Given the description of an element on the screen output the (x, y) to click on. 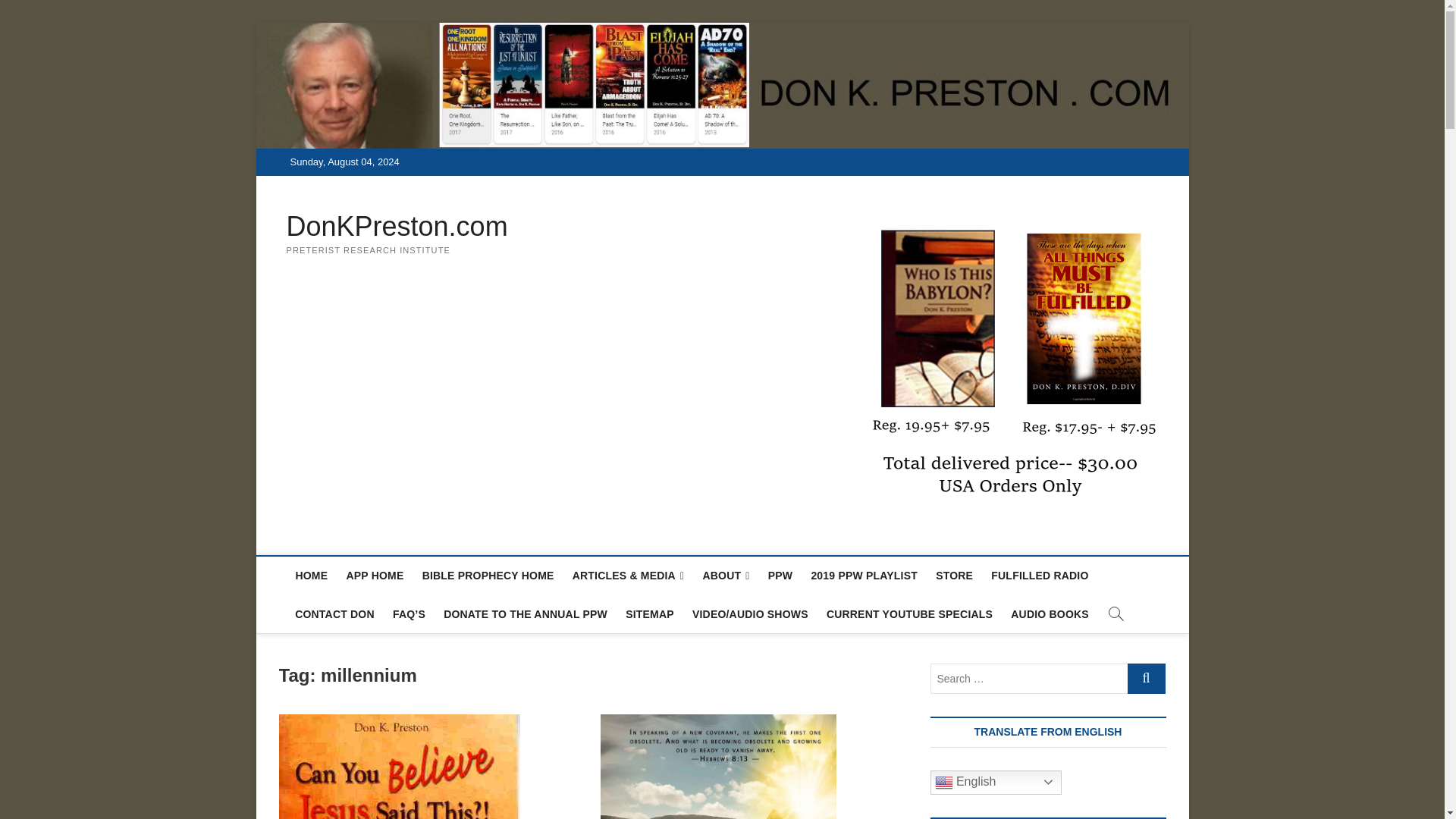
DONATE TO THE ANNUAL PPW (524, 614)
2019 PPW PLAYLIST (863, 575)
DonKPreston.com (397, 226)
SITEMAP (649, 614)
BIBLE PROPHECY HOME (488, 575)
CURRENT YOUTUBE SPECIALS (909, 614)
PPW (780, 575)
FULFILLED RADIO (1040, 575)
STORE (953, 575)
APP HOME (373, 575)
ABOUT (725, 575)
AUDIO BOOKS (1049, 614)
DonKPreston.com (397, 226)
HOME (310, 575)
